Given the description of an element on the screen output the (x, y) to click on. 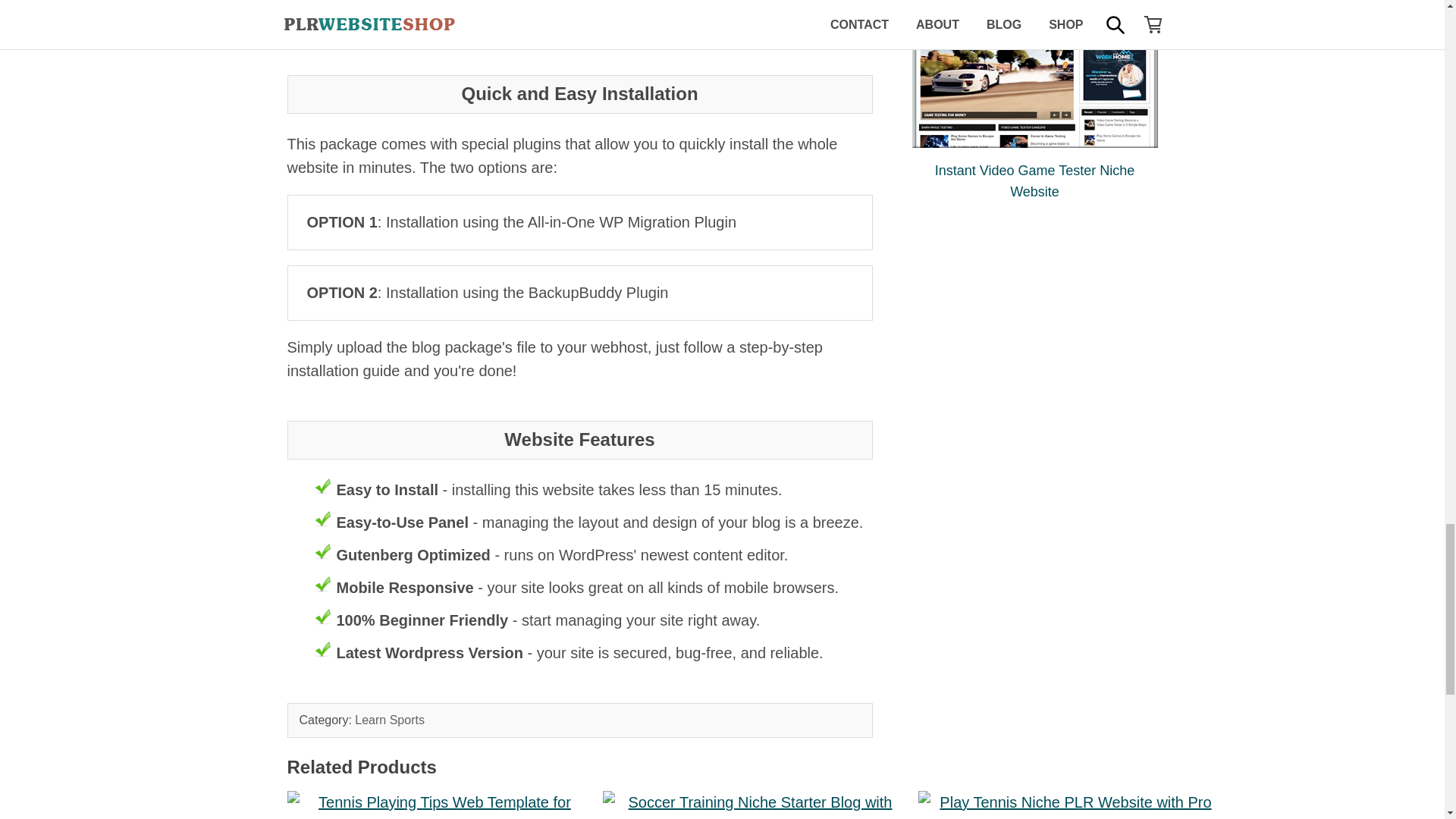
Tennis Playing Tips Web Template for Beginners (437, 805)
Soccer Training Niche Starter Blog with PLR (753, 805)
Play Tennis Niche PLR Website with Pro Theme (1069, 805)
Learn Sports (390, 719)
